Given the description of an element on the screen output the (x, y) to click on. 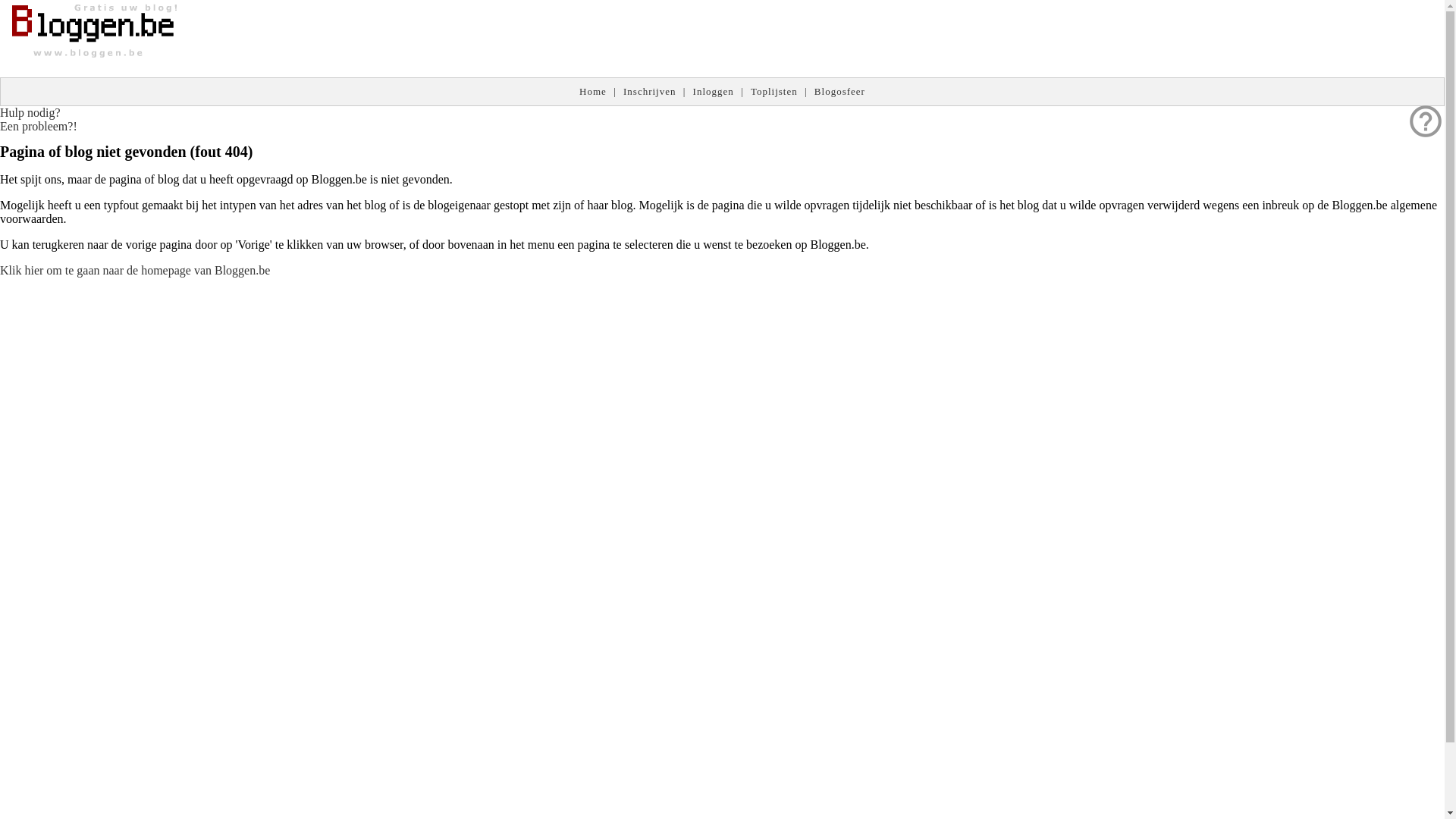
help_outline
Hulp nodig?
Een probleem?! Element type: text (38, 119)
Inloggen Element type: text (713, 91)
Toplijsten Element type: text (773, 91)
Home Element type: text (592, 91)
Inschrijven Element type: text (649, 91)
Klik hier om te gaan naar de homepage van Bloggen.be Element type: text (134, 269)
Blogosfeer Element type: text (839, 91)
